Given the description of an element on the screen output the (x, y) to click on. 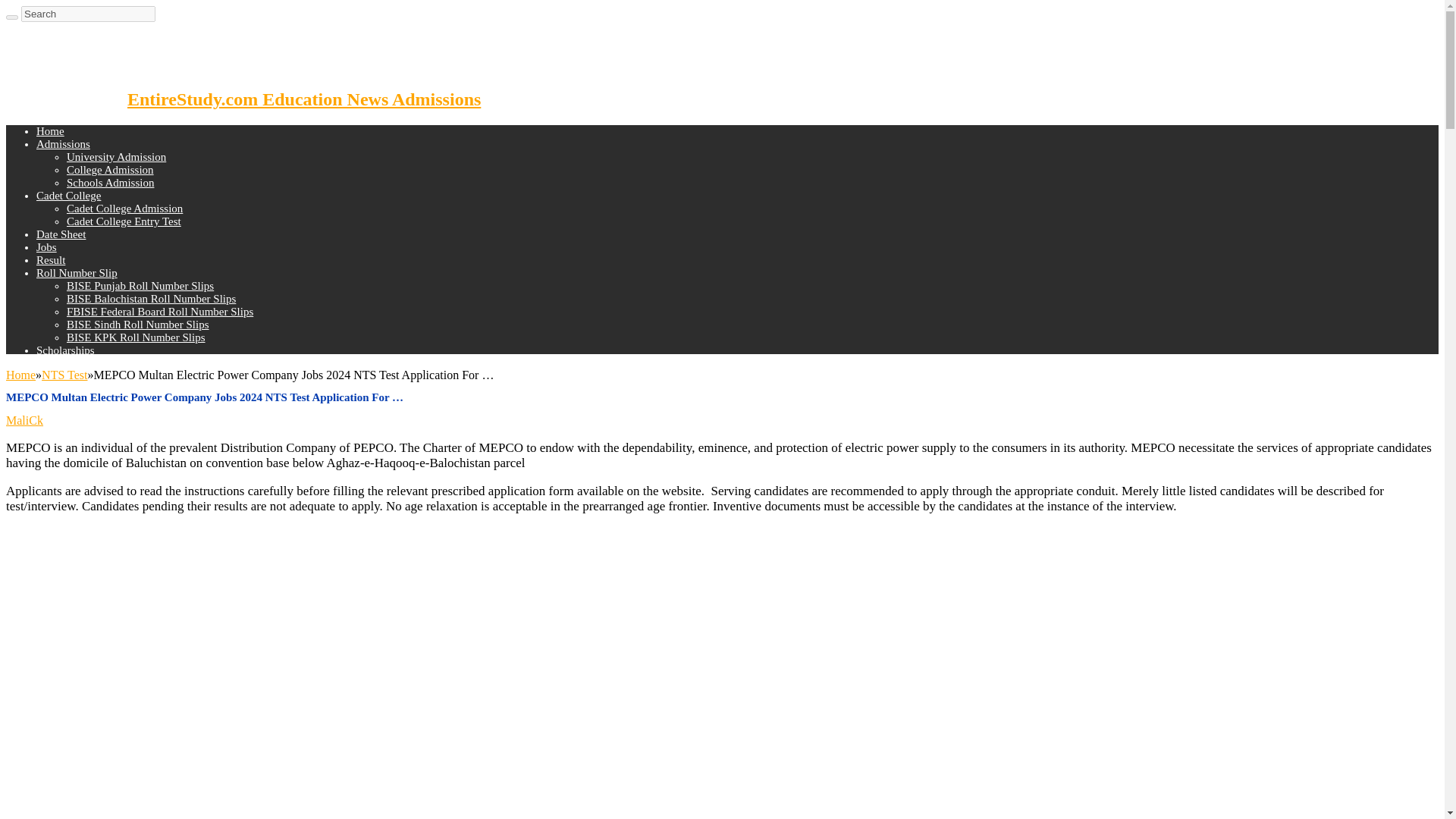
Schools Admission (110, 182)
BISE Sindh Roll Number Slips (137, 324)
Search (88, 13)
NTS Test (64, 374)
Result (50, 259)
BISE Punjab Roll Number Slips (140, 285)
Search (88, 13)
EntireStudy.com Education News Admissions (242, 98)
BISE Balochistan Roll Number Slips (150, 298)
Home (50, 131)
Date Sheet (60, 234)
EntireStudy.com (242, 98)
University Admission (115, 156)
Roll Number Slip (76, 272)
Cadet College (68, 195)
